Given the description of an element on the screen output the (x, y) to click on. 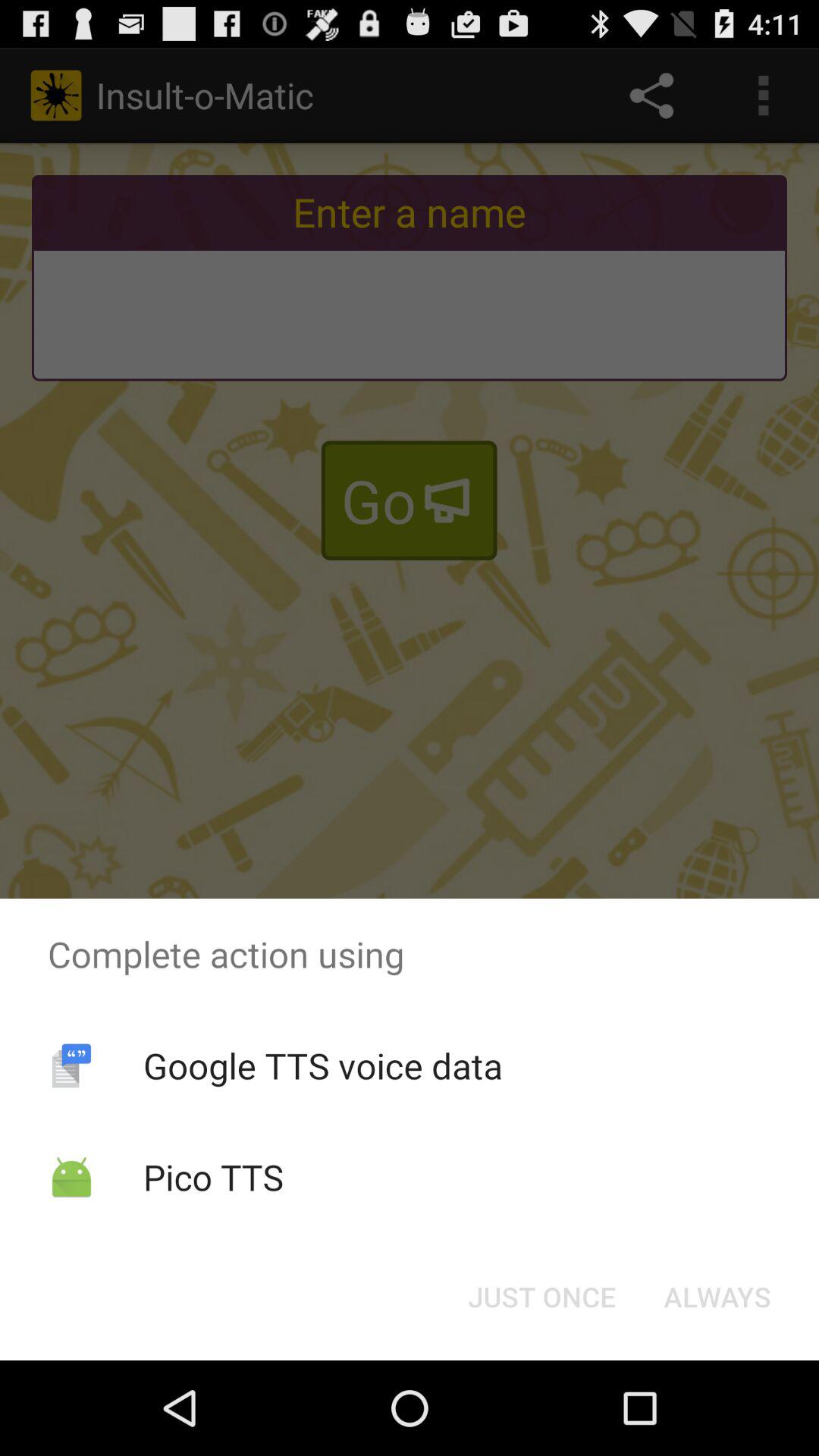
swipe to pico tts icon (213, 1176)
